Given the description of an element on the screen output the (x, y) to click on. 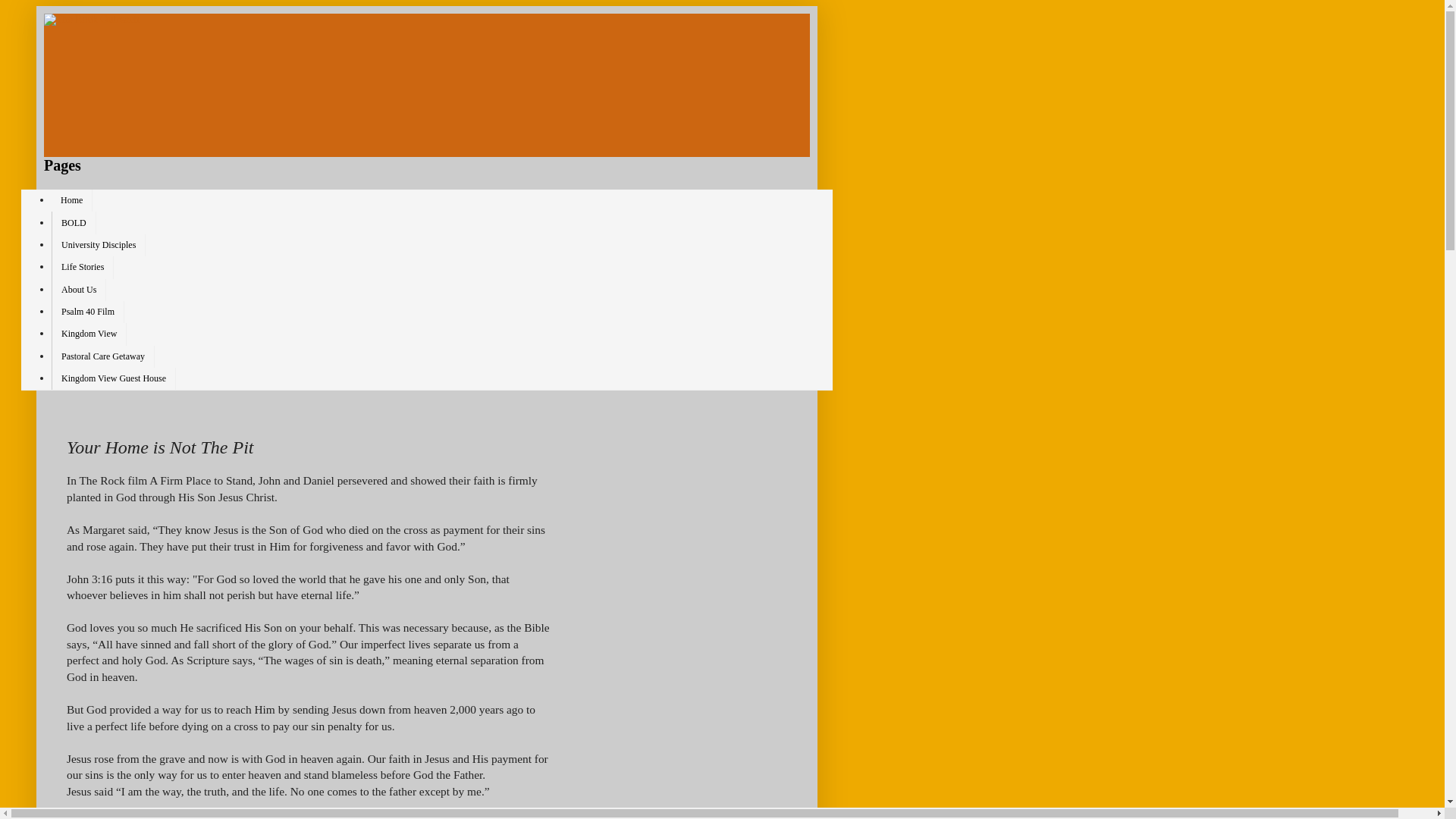
BOLD (73, 222)
University Disciples (97, 245)
Kingdom View (88, 333)
Kingdom View Guest House (113, 378)
Pastoral Care Getaway (102, 356)
Psalm 40 Film (86, 311)
Life Stories (81, 267)
About Us (78, 290)
Home (71, 200)
